Given the description of an element on the screen output the (x, y) to click on. 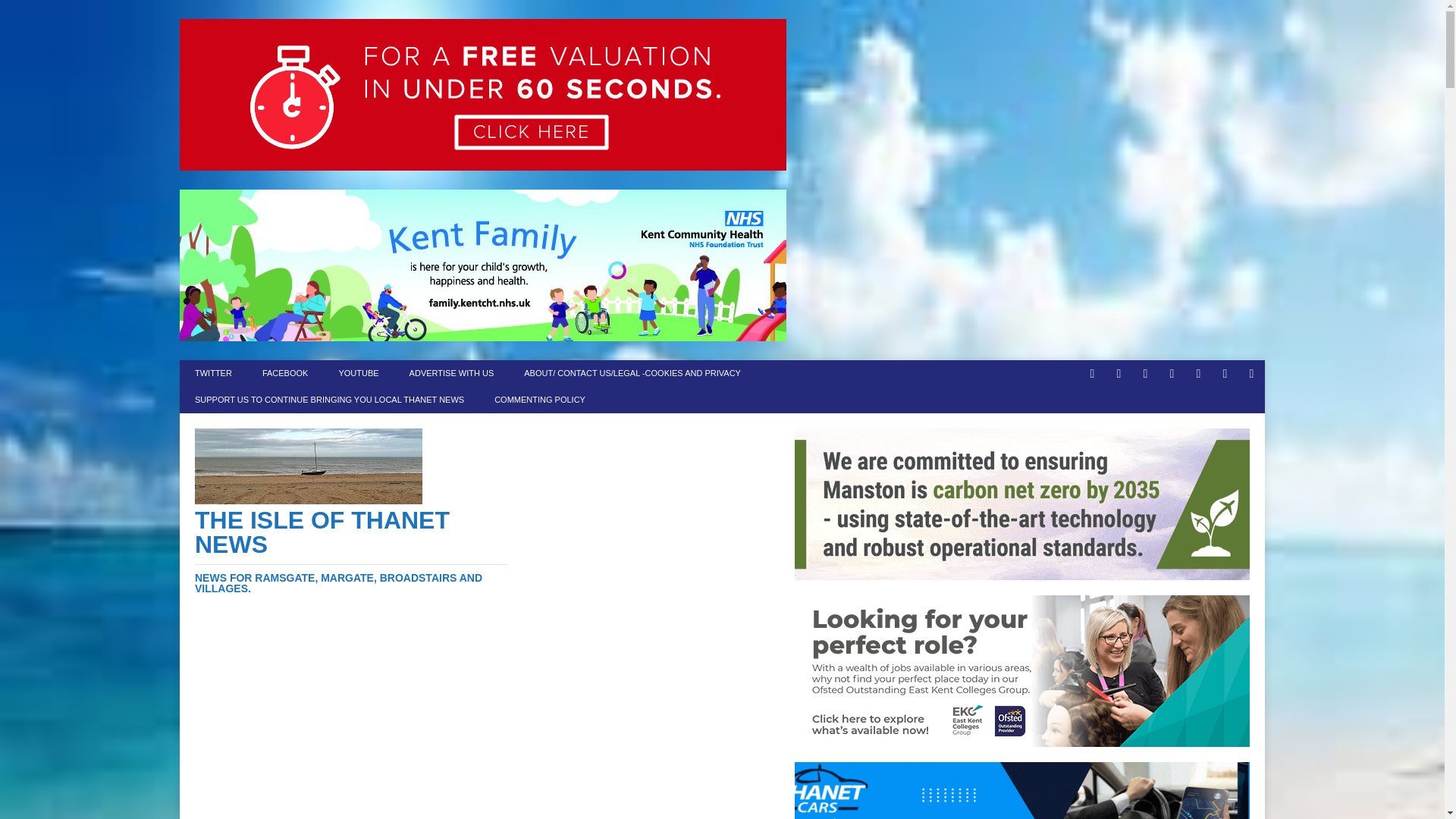
COMMENTING POLICY (539, 399)
YOUTUBE (358, 373)
The Isle Of Thanet News (351, 550)
TWITTER (213, 373)
FACEBOOK (285, 373)
SUPPORT US TO CONTINUE BRINGING YOU LOCAL THANET NEWS (329, 399)
ADVERTISE WITH US (451, 373)
